Given the description of an element on the screen output the (x, y) to click on. 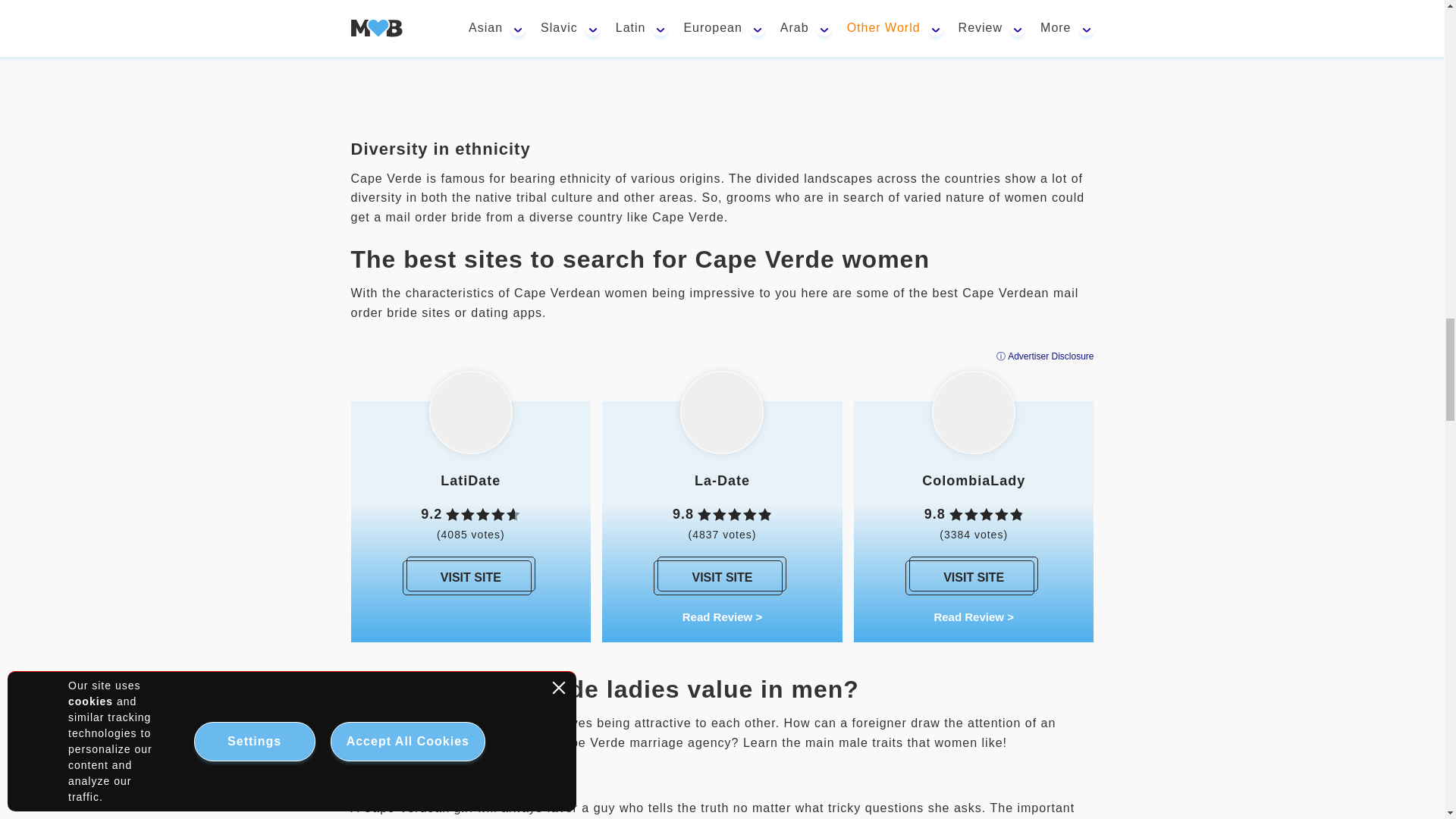
Our Score (734, 513)
Our Score (482, 513)
Our Score (986, 513)
